Given the description of an element on the screen output the (x, y) to click on. 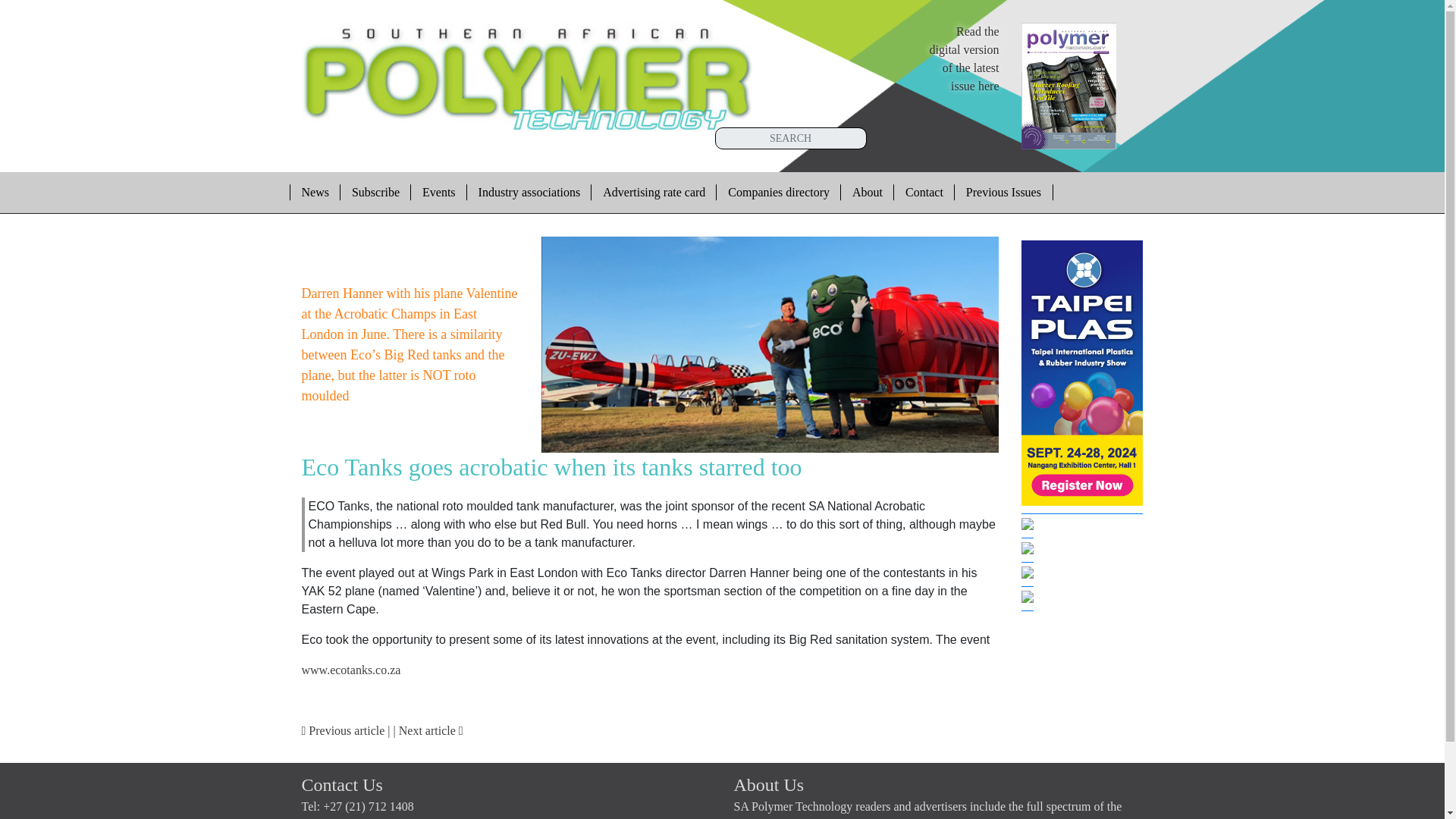
Contact (924, 191)
Advertising rate card (653, 191)
News (314, 191)
Companies directory (778, 191)
Events (438, 191)
www.ecotanks.co.za (351, 669)
Previous Issues (1003, 191)
About (964, 58)
Industry associations (867, 191)
Subscribe (529, 191)
